Given the description of an element on the screen output the (x, y) to click on. 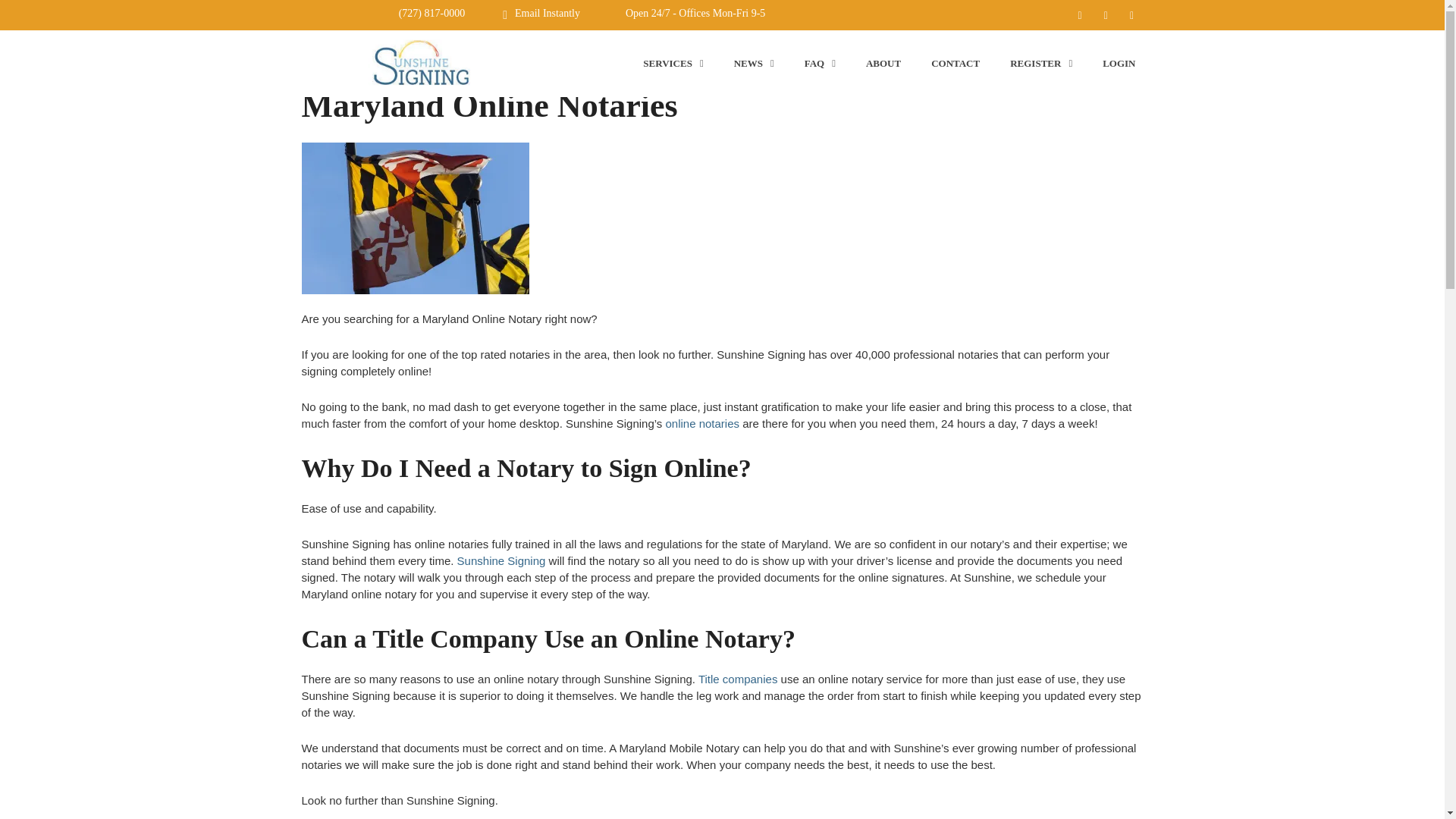
Online and Mobile Notary Services (672, 63)
Email Instantly (547, 12)
Notary News (753, 63)
About Sunshine Signing Connection (883, 63)
Notary FAQ (819, 63)
